Given the description of an element on the screen output the (x, y) to click on. 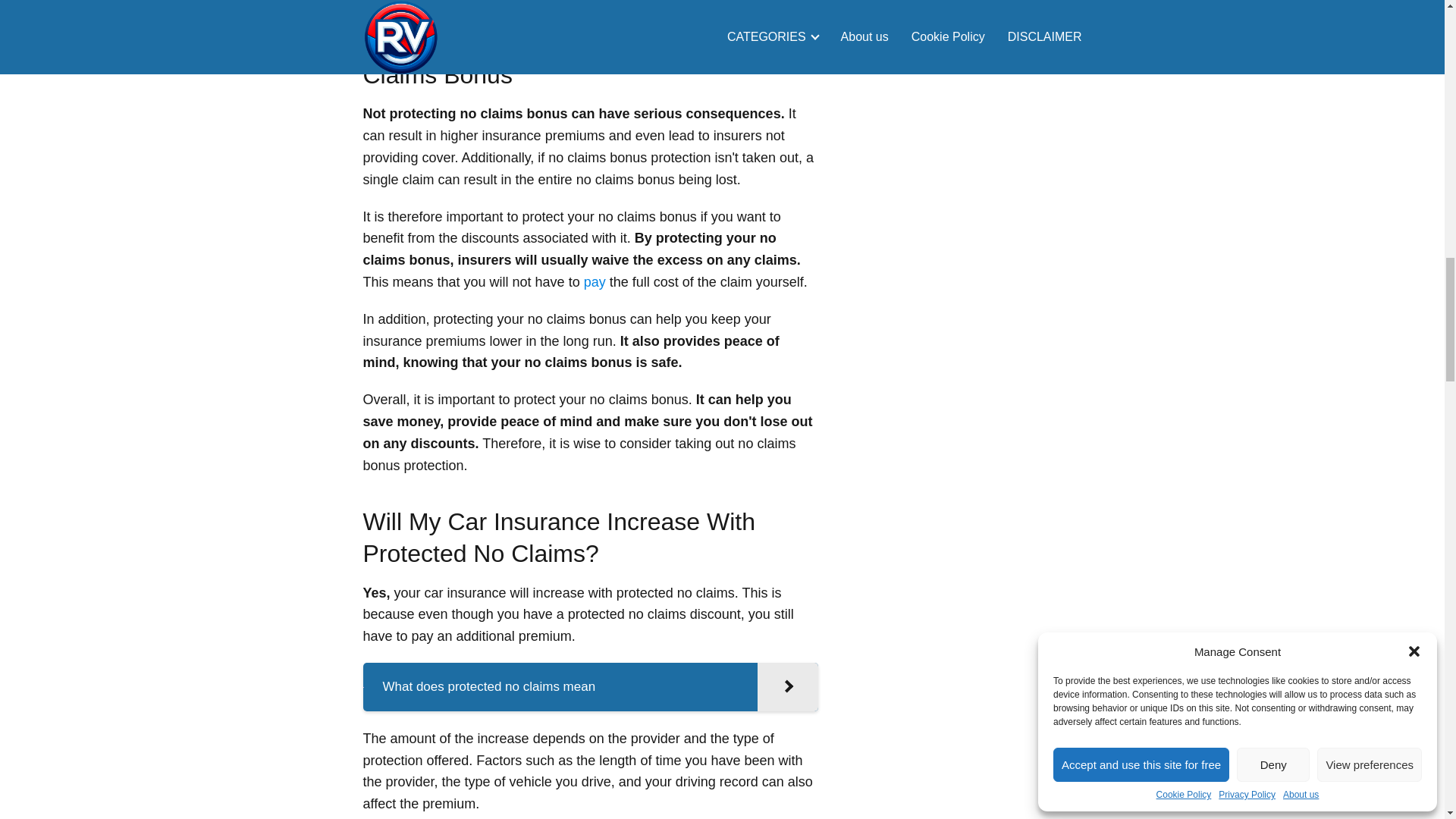
pay (594, 281)
